Given the description of an element on the screen output the (x, y) to click on. 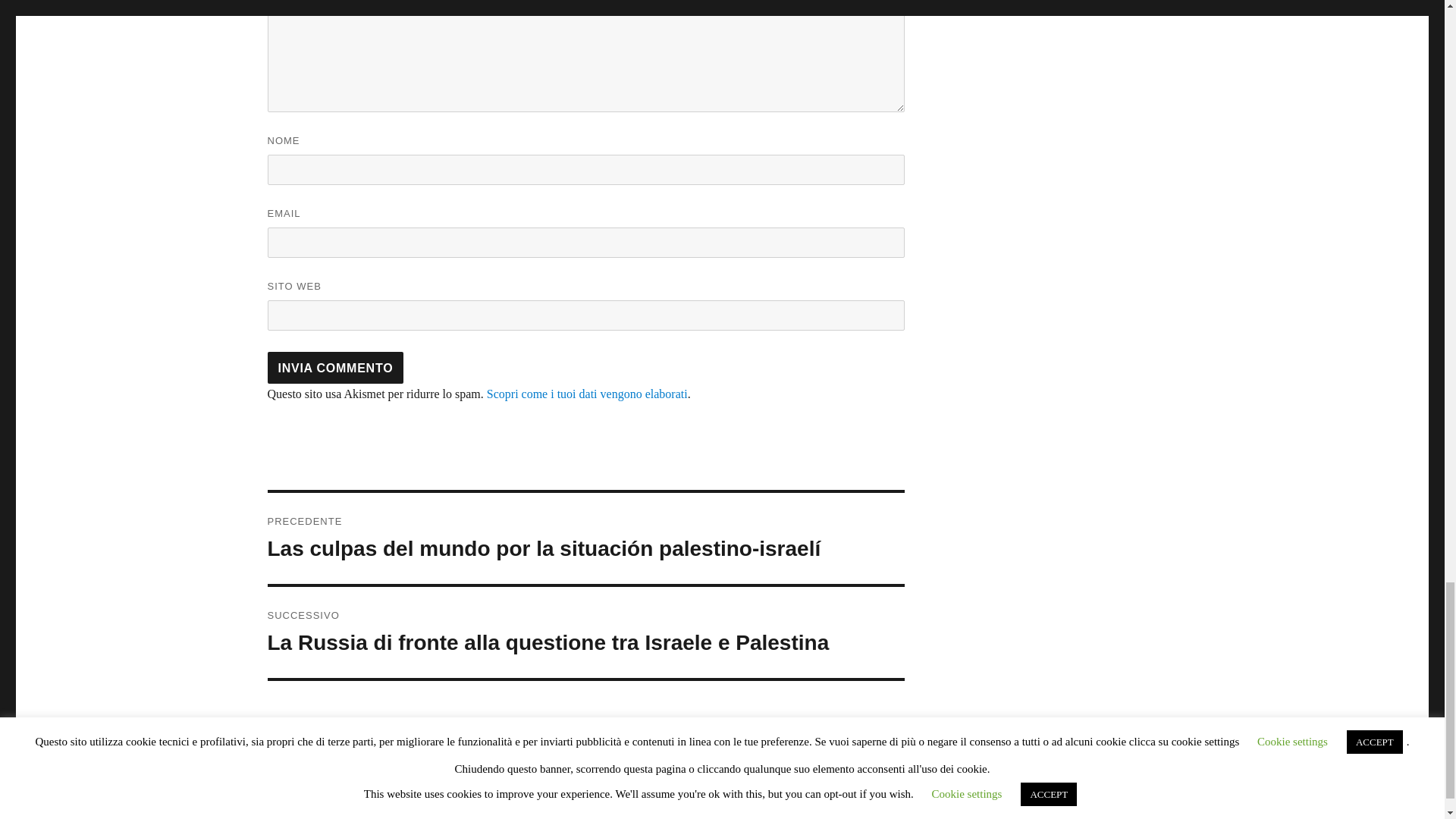
Scopri come i tuoi dati vengono elaborati (586, 393)
Invia commento (334, 368)
Invia commento (334, 368)
